Given the description of an element on the screen output the (x, y) to click on. 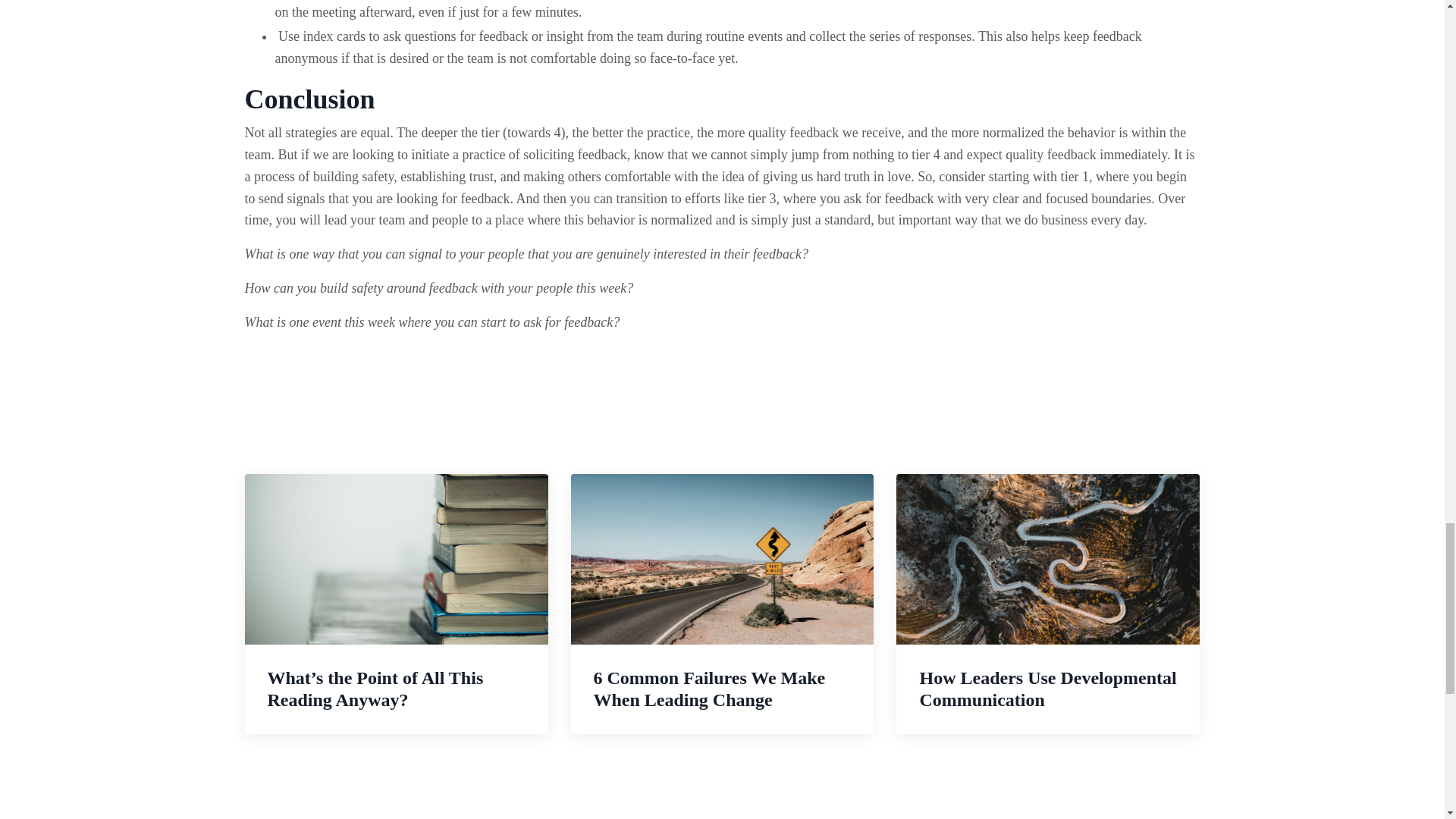
6 Common Failures We Make When Leading Change (721, 603)
How Leaders Use Developmental Communication (1047, 603)
